Given the description of an element on the screen output the (x, y) to click on. 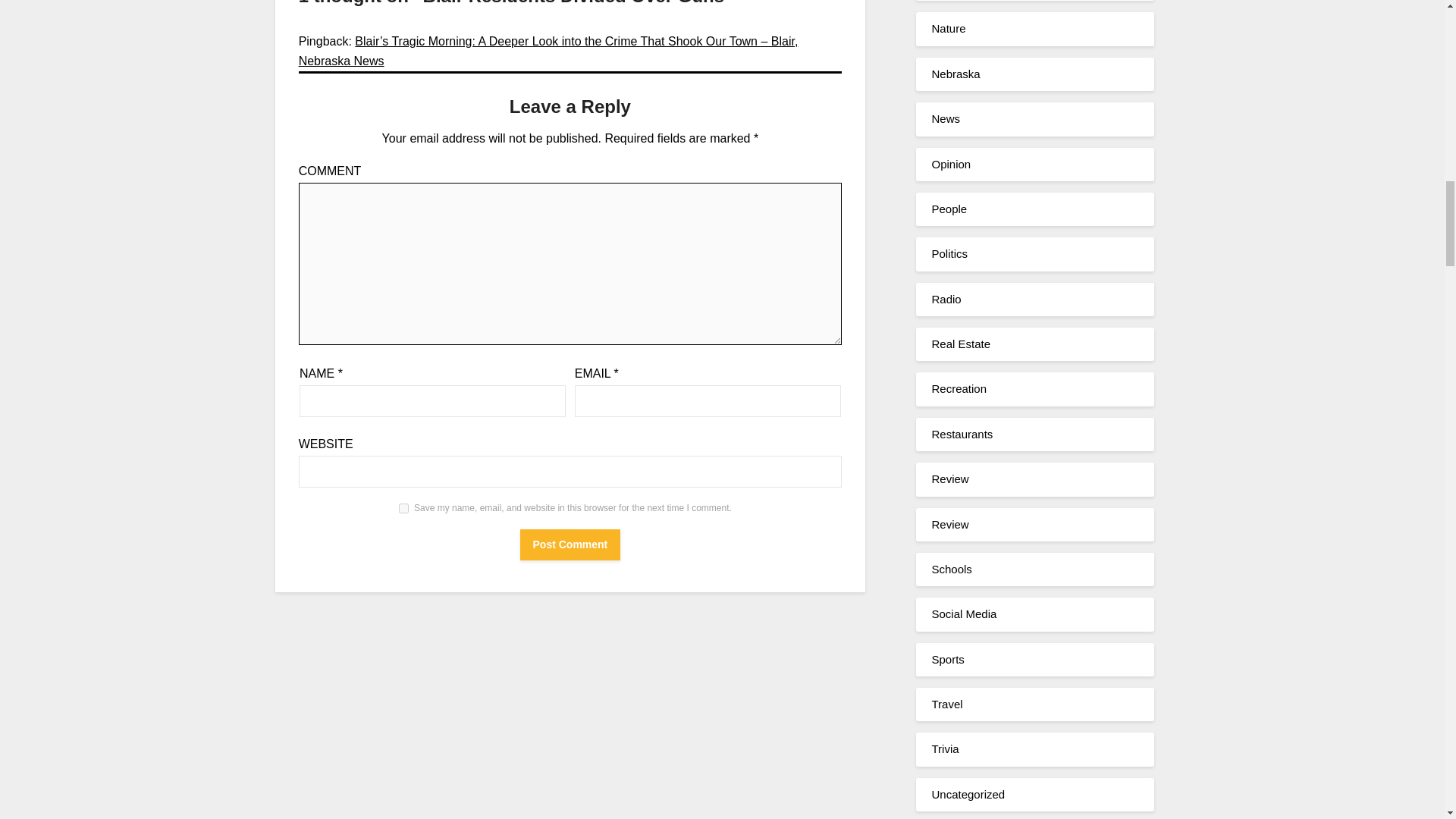
Post Comment (570, 544)
Post Comment (570, 544)
yes (403, 508)
